Given the description of an element on the screen output the (x, y) to click on. 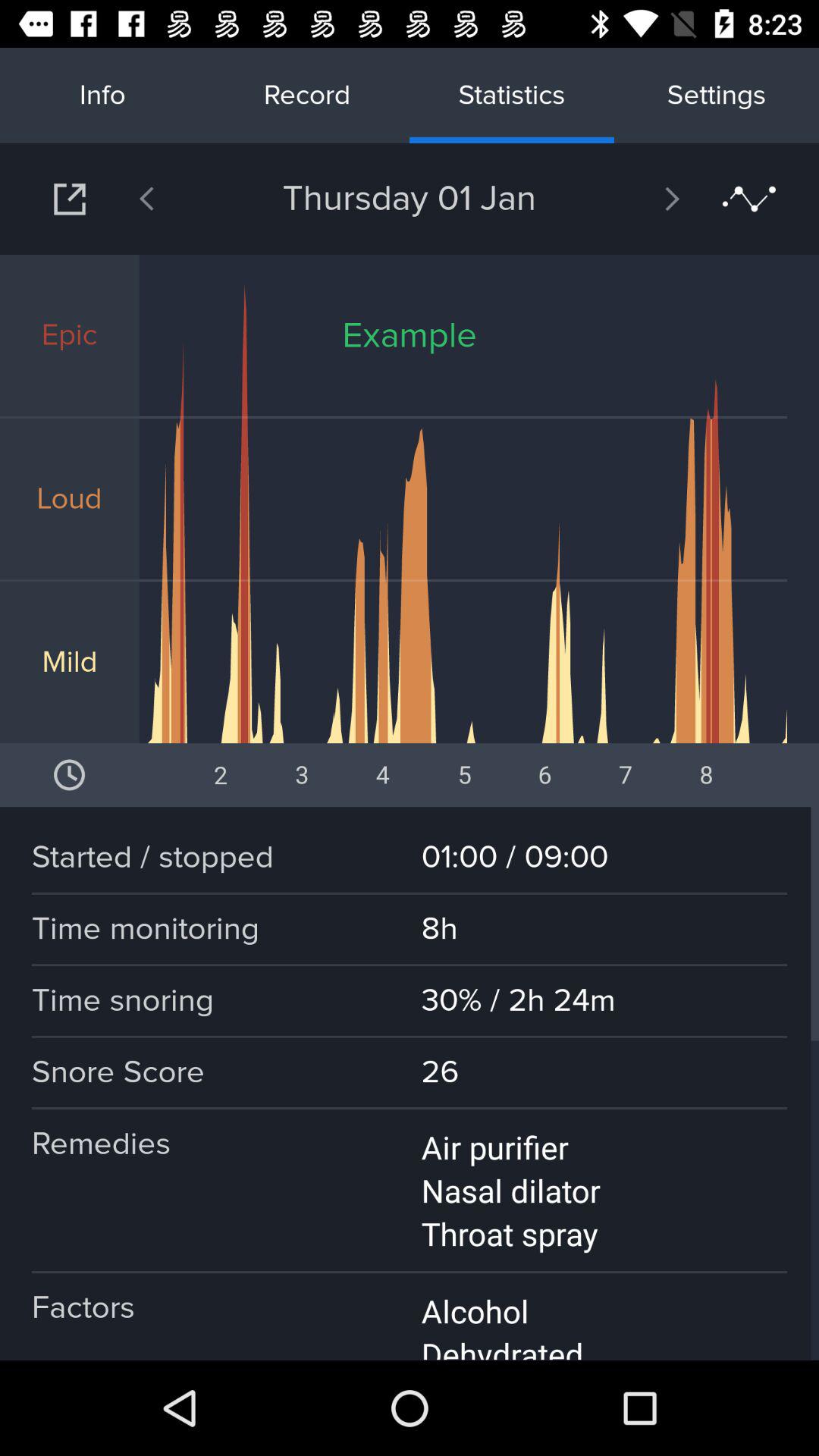
tap icon below settings item (749, 198)
